Given the description of an element on the screen output the (x, y) to click on. 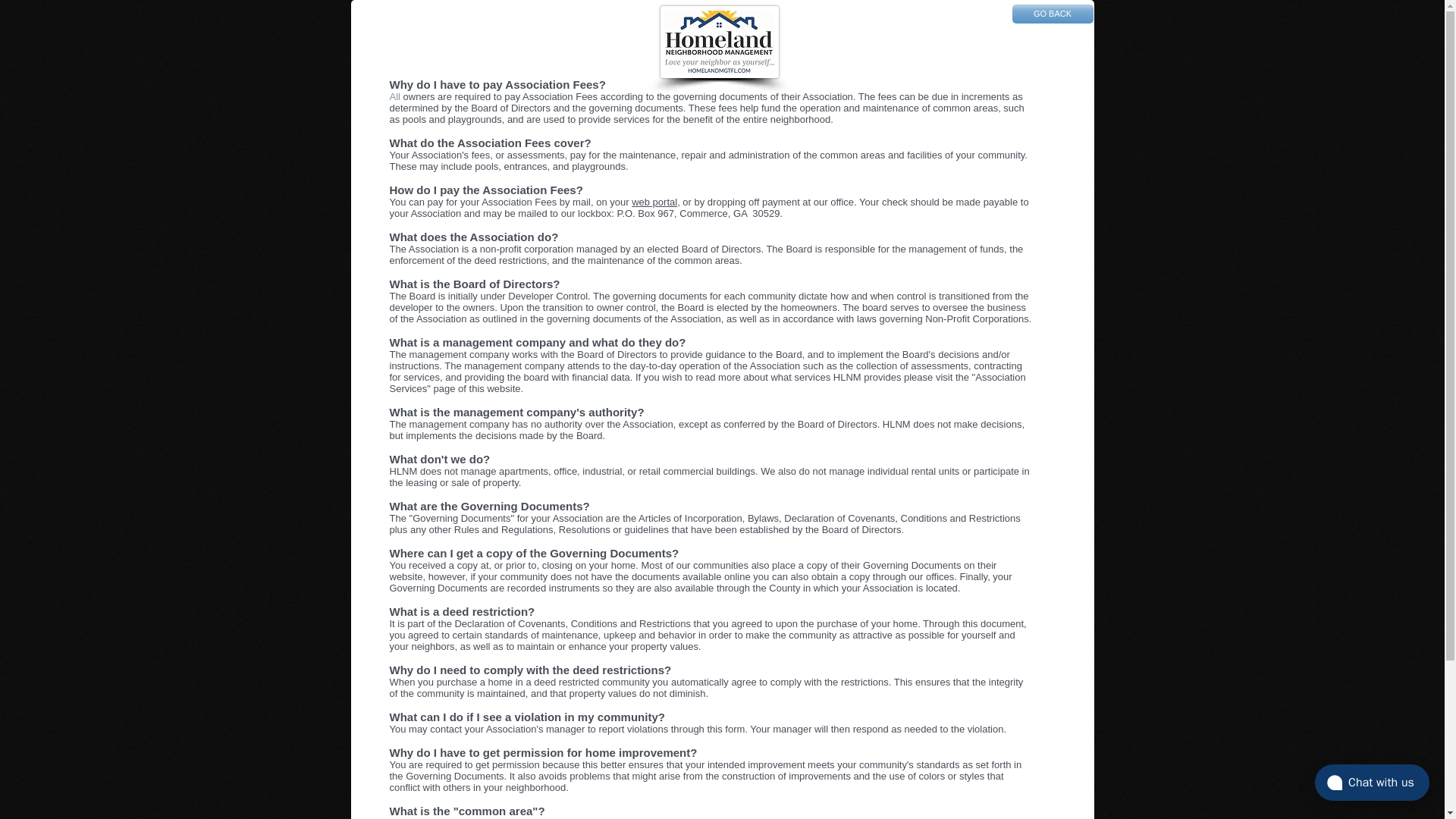
web portal (654, 202)
Chat with us (1371, 782)
Open chat window (1371, 782)
GO BACK (1052, 13)
